Given the description of an element on the screen output the (x, y) to click on. 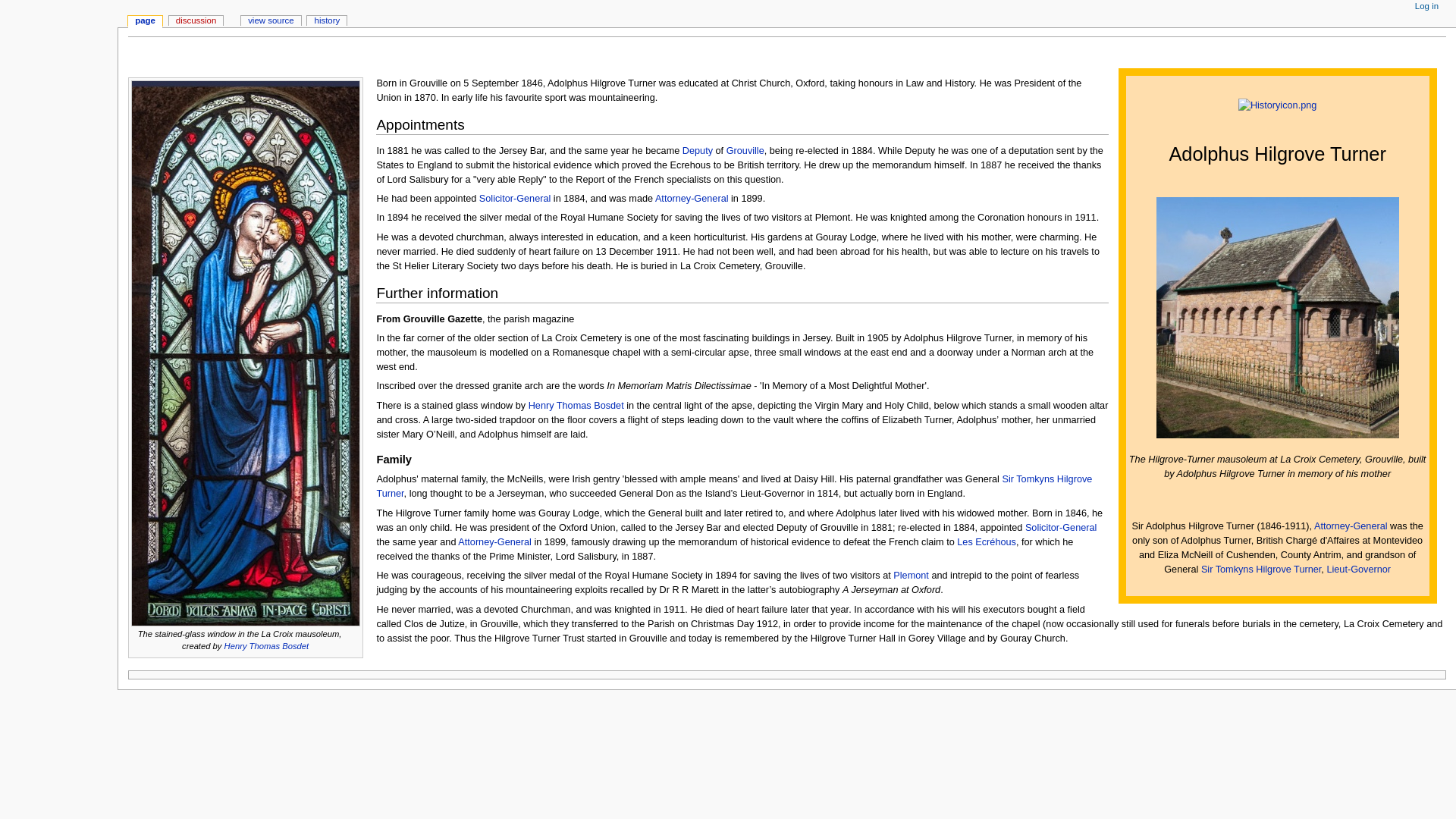
Attorney-General (692, 198)
discussion (196, 21)
Log in (1426, 6)
Attorney-General (494, 542)
Henry Thomas Bosdet (266, 645)
Solicitor-General (1061, 527)
Henry Thomas Bosdet (576, 405)
Solicitor-General (1061, 527)
Lieut-Governor (1358, 569)
Deputy (697, 150)
